Given the description of an element on the screen output the (x, y) to click on. 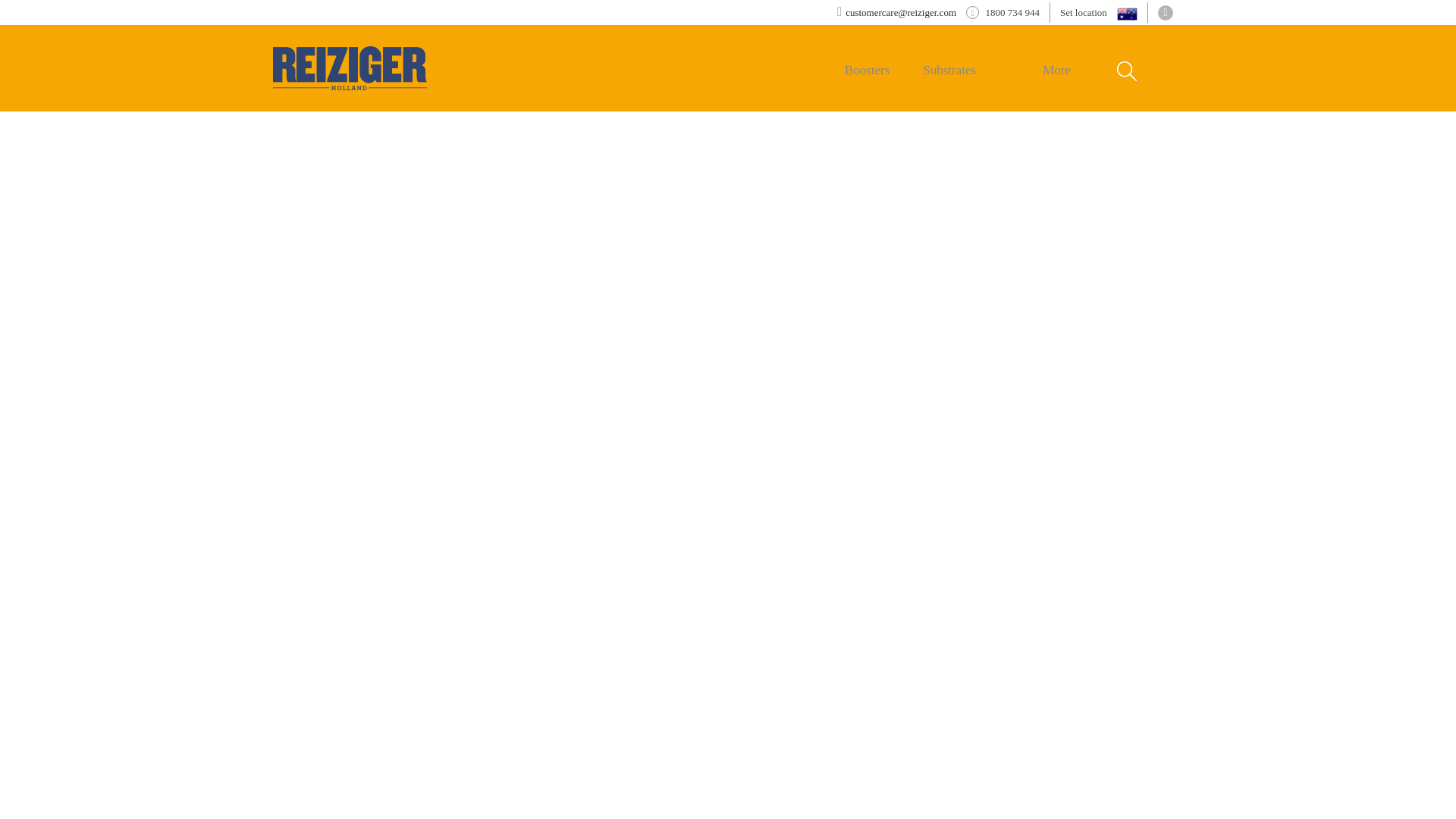
Boosters (866, 69)
